Given the description of an element on the screen output the (x, y) to click on. 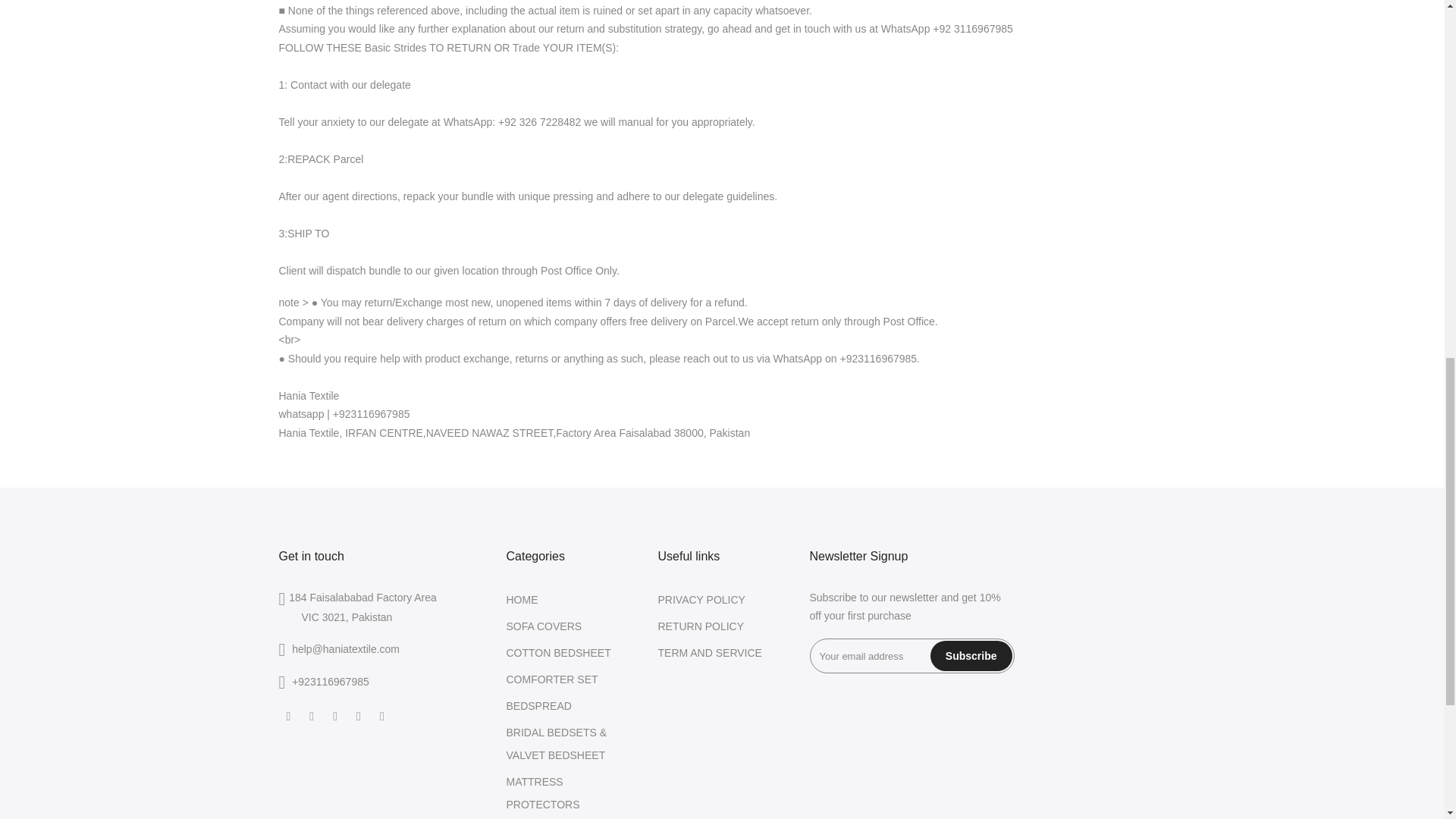
MATTRESS PROTECTORS (542, 792)
PRIVACY POLICY (701, 599)
TERM AND SERVICE (709, 653)
HOME (522, 599)
COTTON BEDSHEET (558, 653)
BEDSPREAD (539, 705)
Subscribe (970, 655)
COMFORTER SET (552, 679)
RETURN POLICY (701, 625)
SOFA COVERS (544, 625)
